Given the description of an element on the screen output the (x, y) to click on. 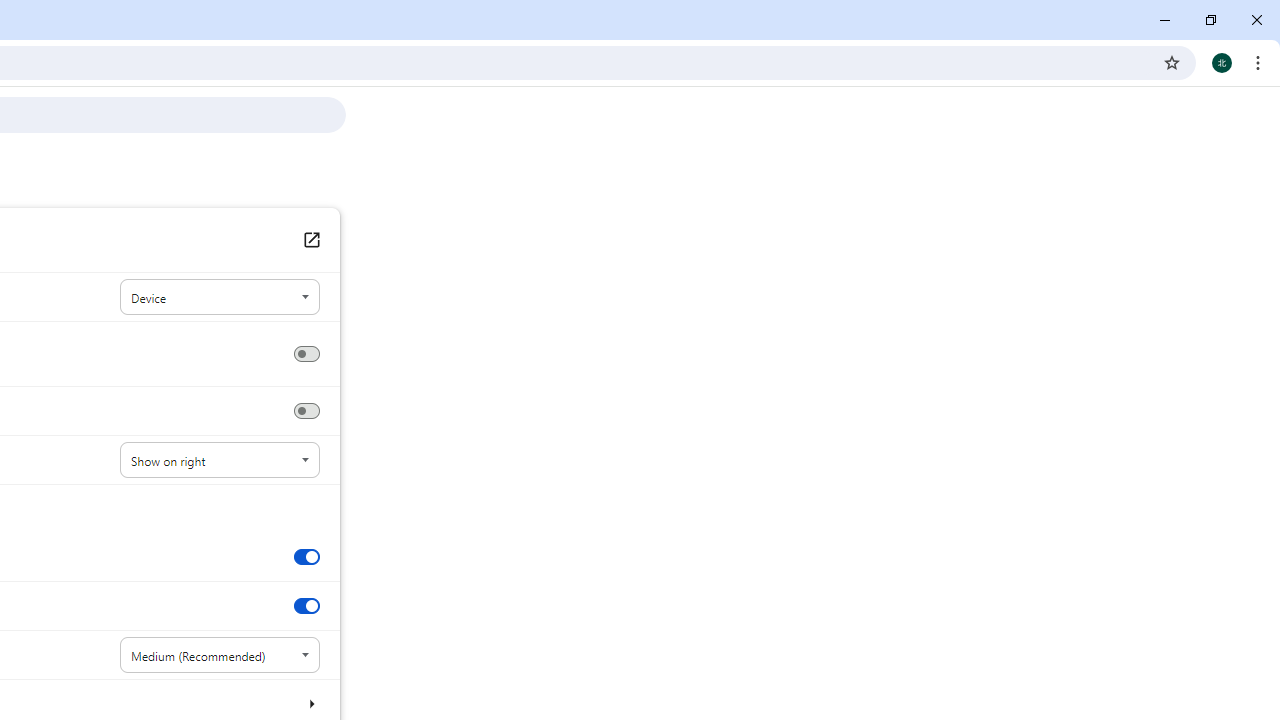
Side panel position (219, 460)
Font size (219, 655)
Show tab preview images (306, 556)
Show tab memory usage (306, 606)
Theme Open Chrome Web Store (310, 240)
Customize fonts (310, 703)
Show bookmarks bar (306, 411)
Mode (219, 297)
Show home button (306, 354)
